Given the description of an element on the screen output the (x, y) to click on. 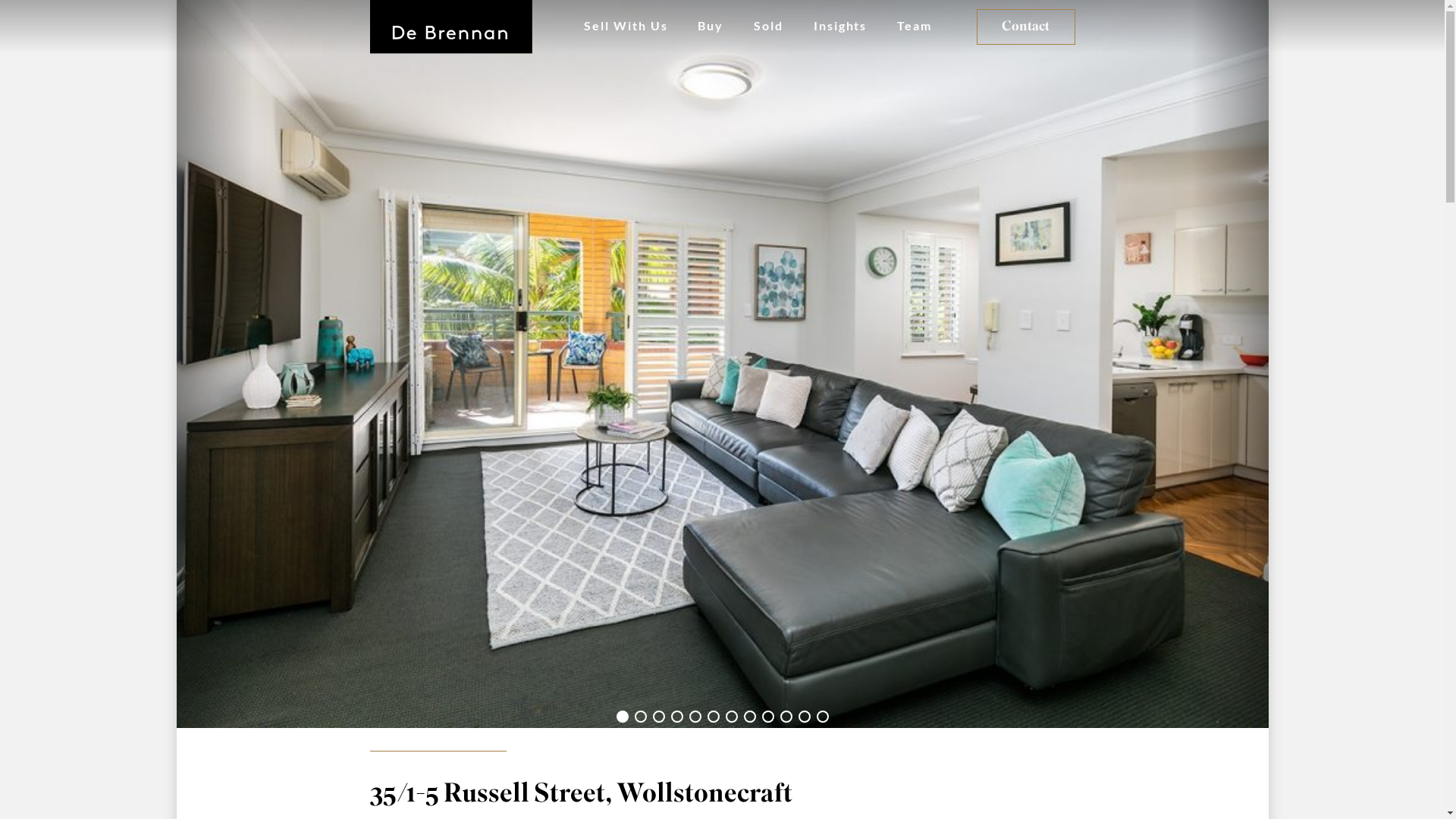
Team Element type: text (914, 26)
12 Element type: text (821, 716)
10 Element type: text (785, 716)
Sold Element type: text (768, 26)
2 Element type: text (639, 716)
7 Element type: text (730, 716)
Sell With Us Element type: text (625, 26)
1 Element type: text (621, 716)
5 Element type: text (694, 716)
Buy Element type: text (710, 26)
6 Element type: text (712, 716)
9 Element type: text (767, 716)
3 Element type: text (658, 716)
Contact Element type: text (1025, 26)
11 Element type: text (803, 716)
4 Element type: text (676, 716)
8 Element type: text (749, 716)
Insights Element type: text (839, 26)
